Given the description of an element on the screen output the (x, y) to click on. 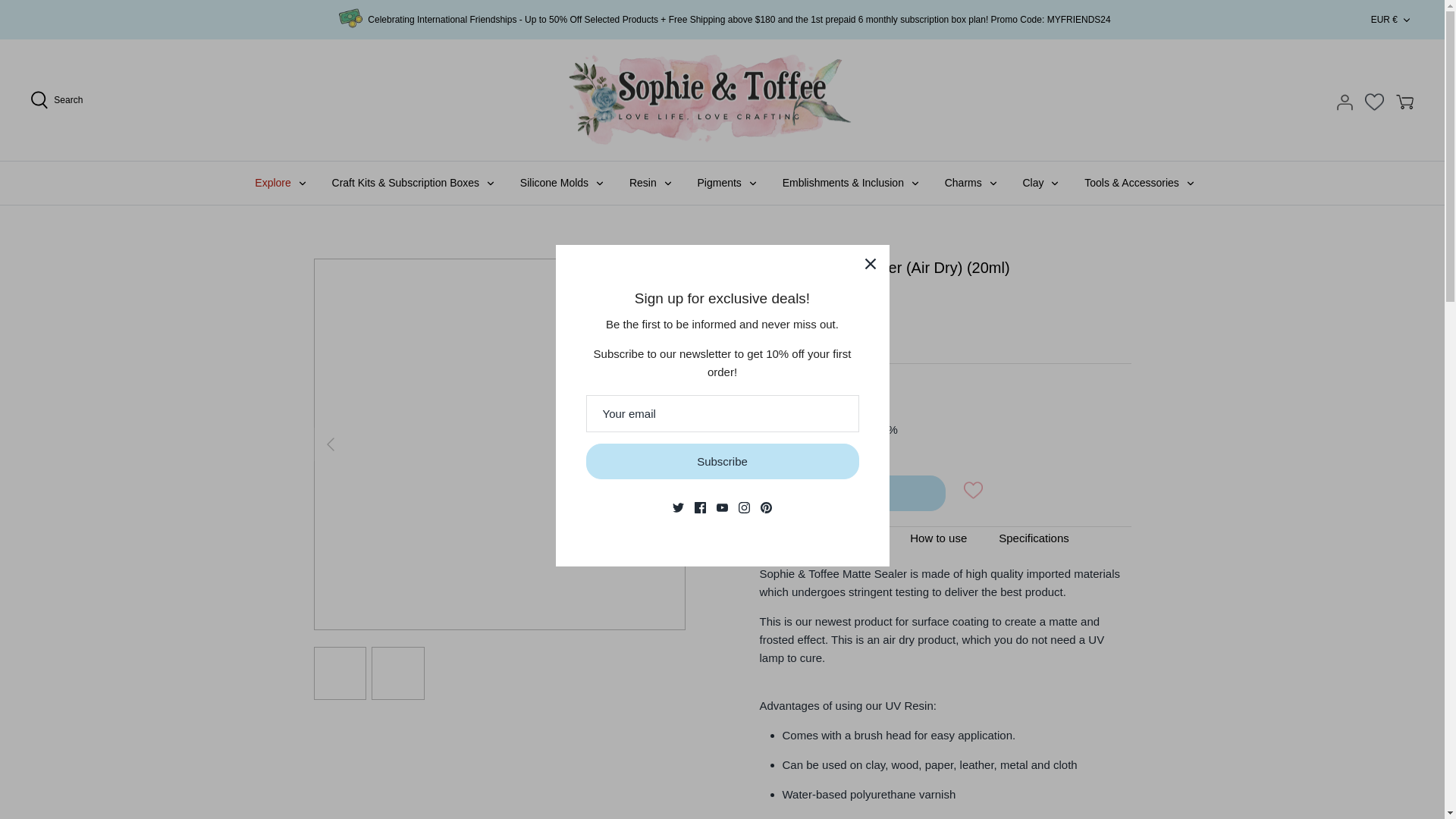
1aef06b108e724d93c0384b259bf07b7f3a8feb5 (767, 429)
Toggle menu (302, 183)
Toggle menu (915, 183)
Toggle menu (490, 183)
Add to Cart (852, 493)
Right (668, 444)
Down (1406, 19)
Toggle menu (1054, 183)
Left (330, 444)
Explore (272, 182)
Toggle menu (1190, 183)
Toggle menu (599, 183)
Toggle menu (667, 183)
Toggle menu (753, 183)
Search (56, 99)
